Given the description of an element on the screen output the (x, y) to click on. 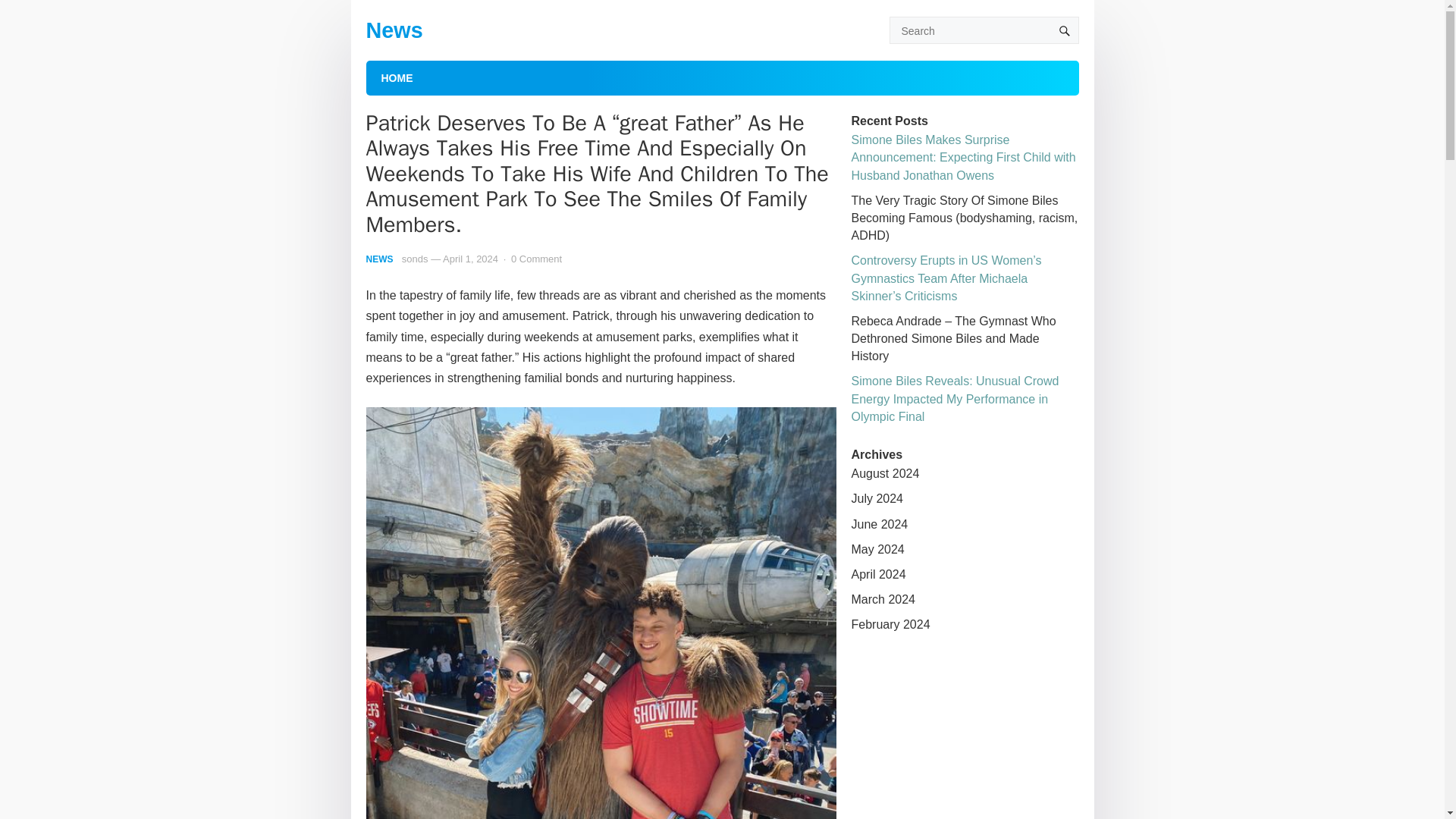
February 2024 (890, 624)
0 Comment (536, 258)
Posts by sonds (414, 258)
May 2024 (877, 549)
March 2024 (882, 599)
August 2024 (884, 472)
News (393, 30)
June 2024 (878, 523)
NEWS (379, 258)
July 2024 (876, 498)
